Given the description of an element on the screen output the (x, y) to click on. 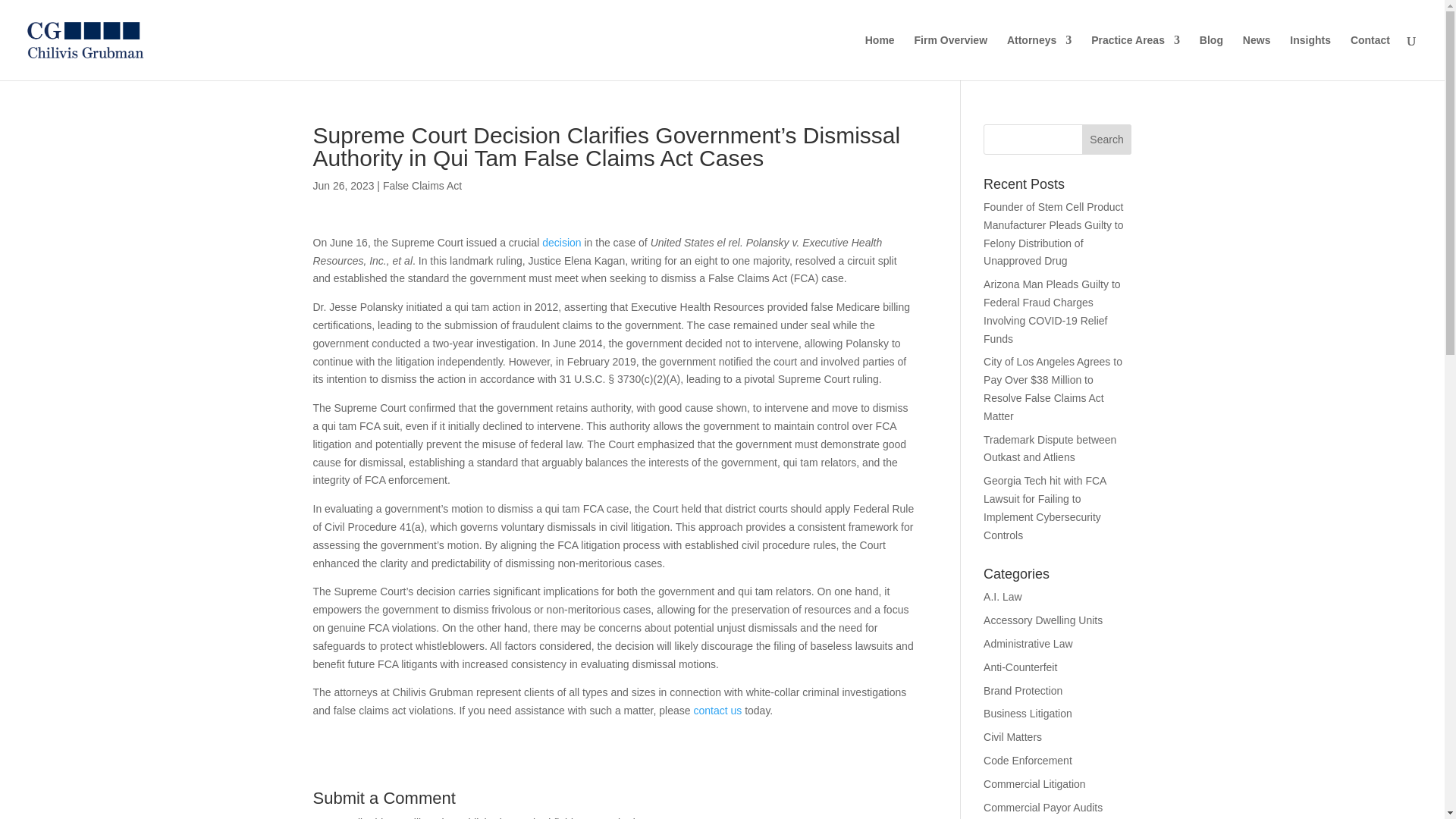
Practice Areas (1134, 57)
Firm Overview (951, 57)
Attorneys (1039, 57)
Search (1106, 139)
